Given the description of an element on the screen output the (x, y) to click on. 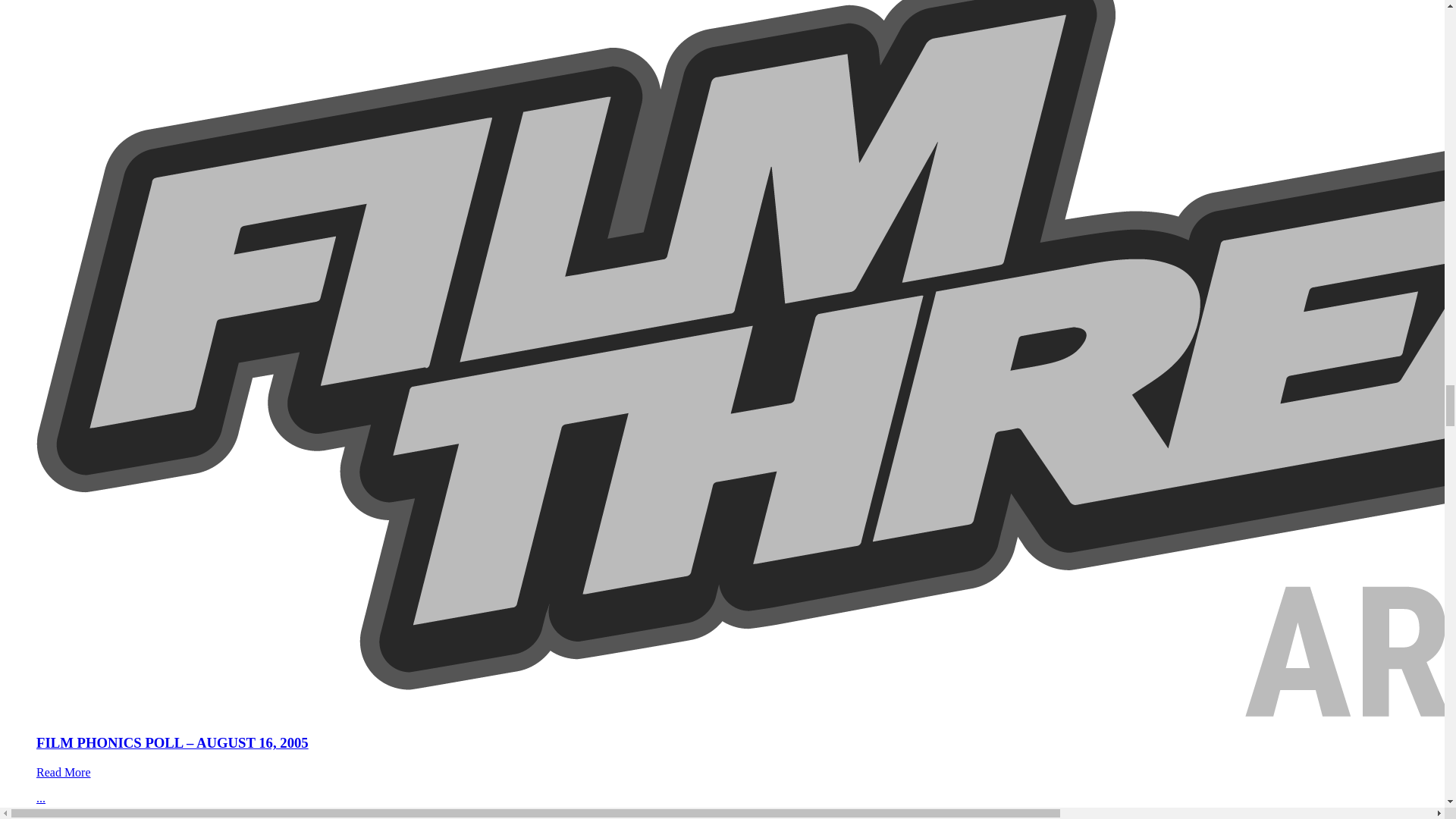
News (50, 818)
